Given the description of an element on the screen output the (x, y) to click on. 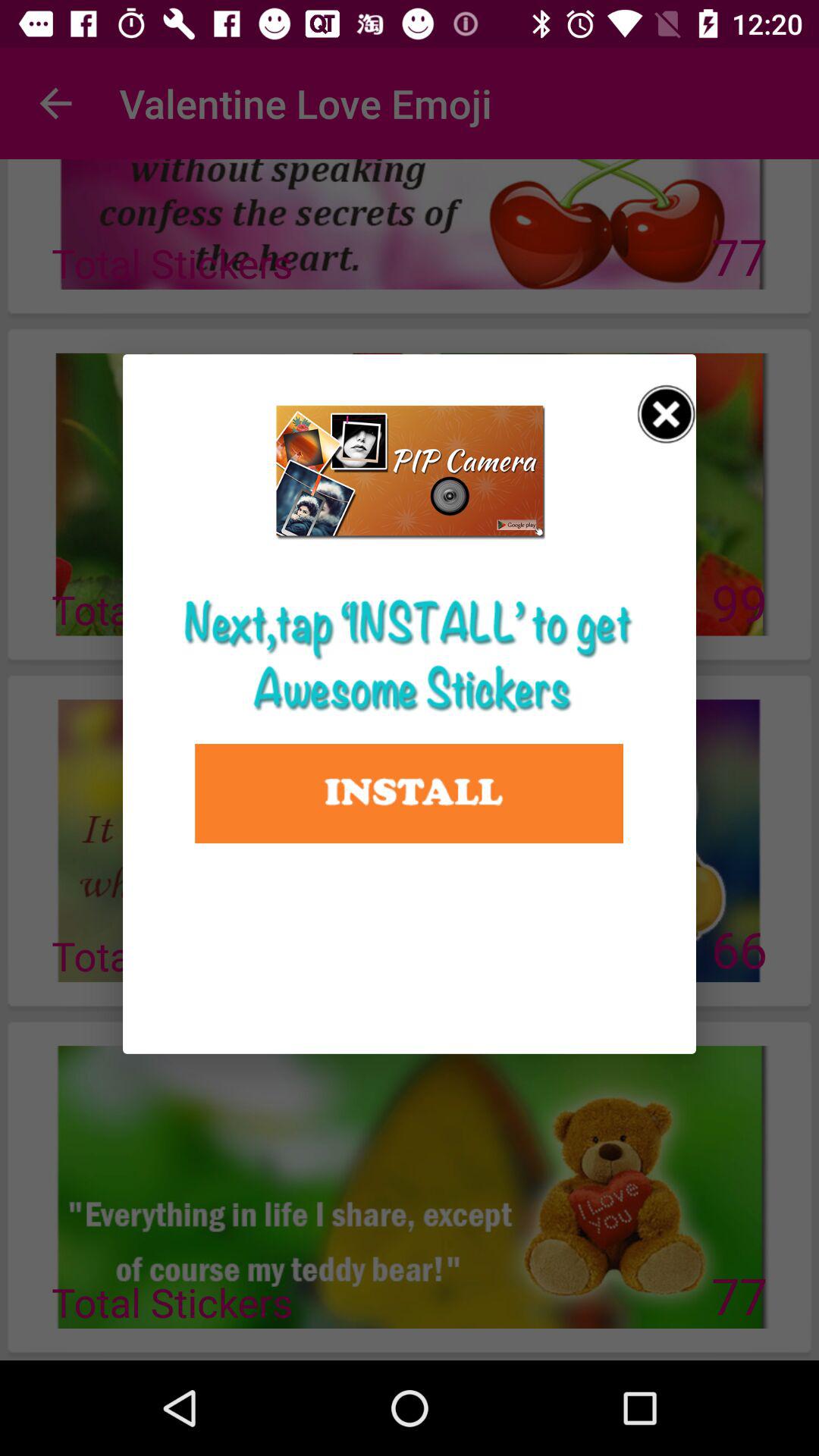
install option (409, 793)
